Given the description of an element on the screen output the (x, y) to click on. 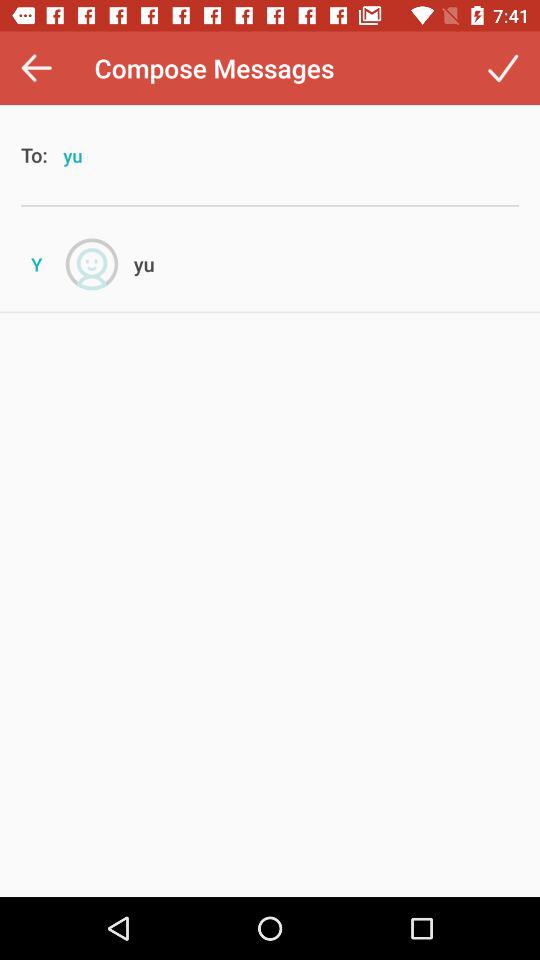
scroll until the y (36, 263)
